Given the description of an element on the screen output the (x, y) to click on. 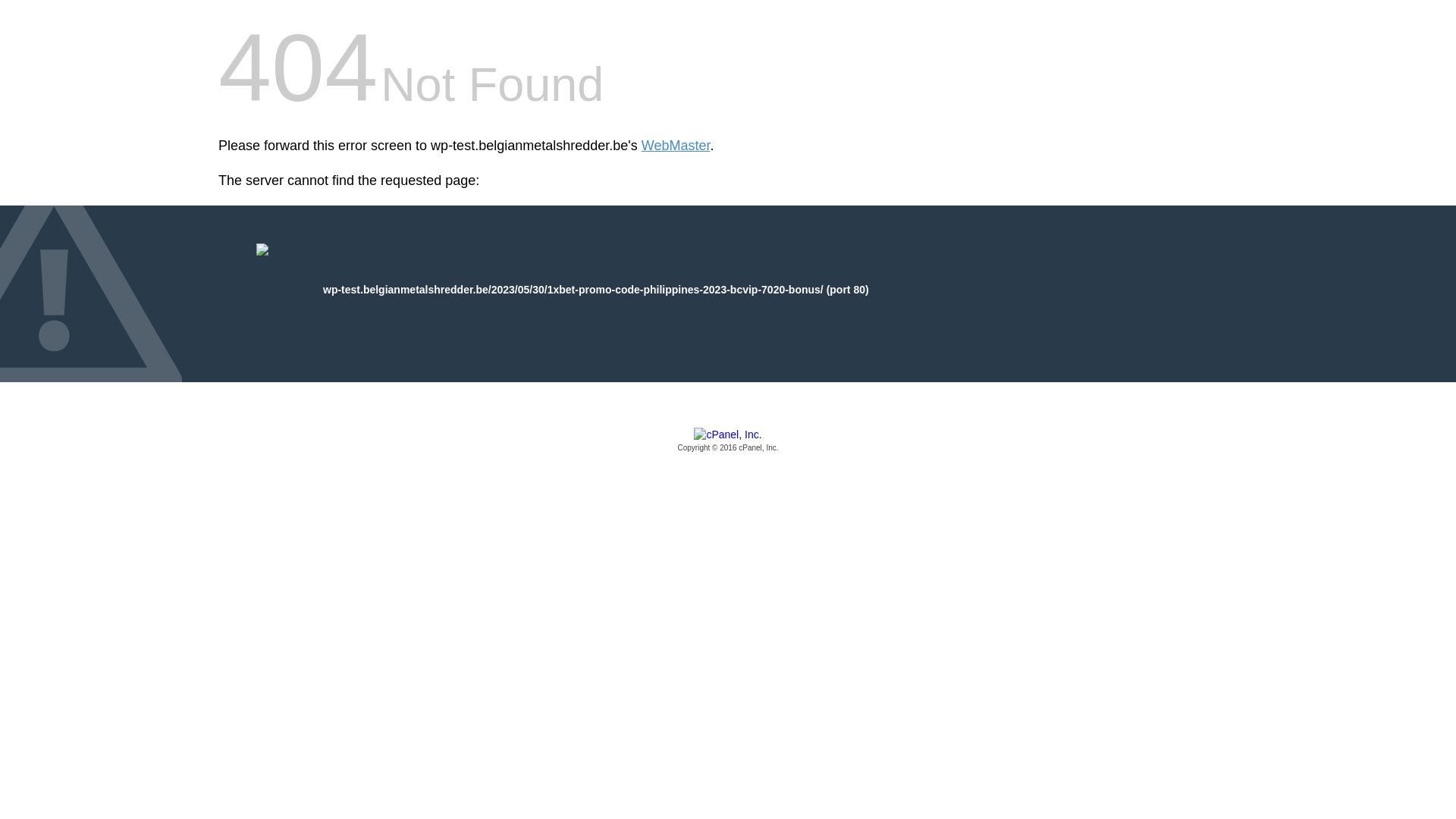
WebMaster (676, 145)
cPanel, Inc. (727, 440)
